Given the description of an element on the screen output the (x, y) to click on. 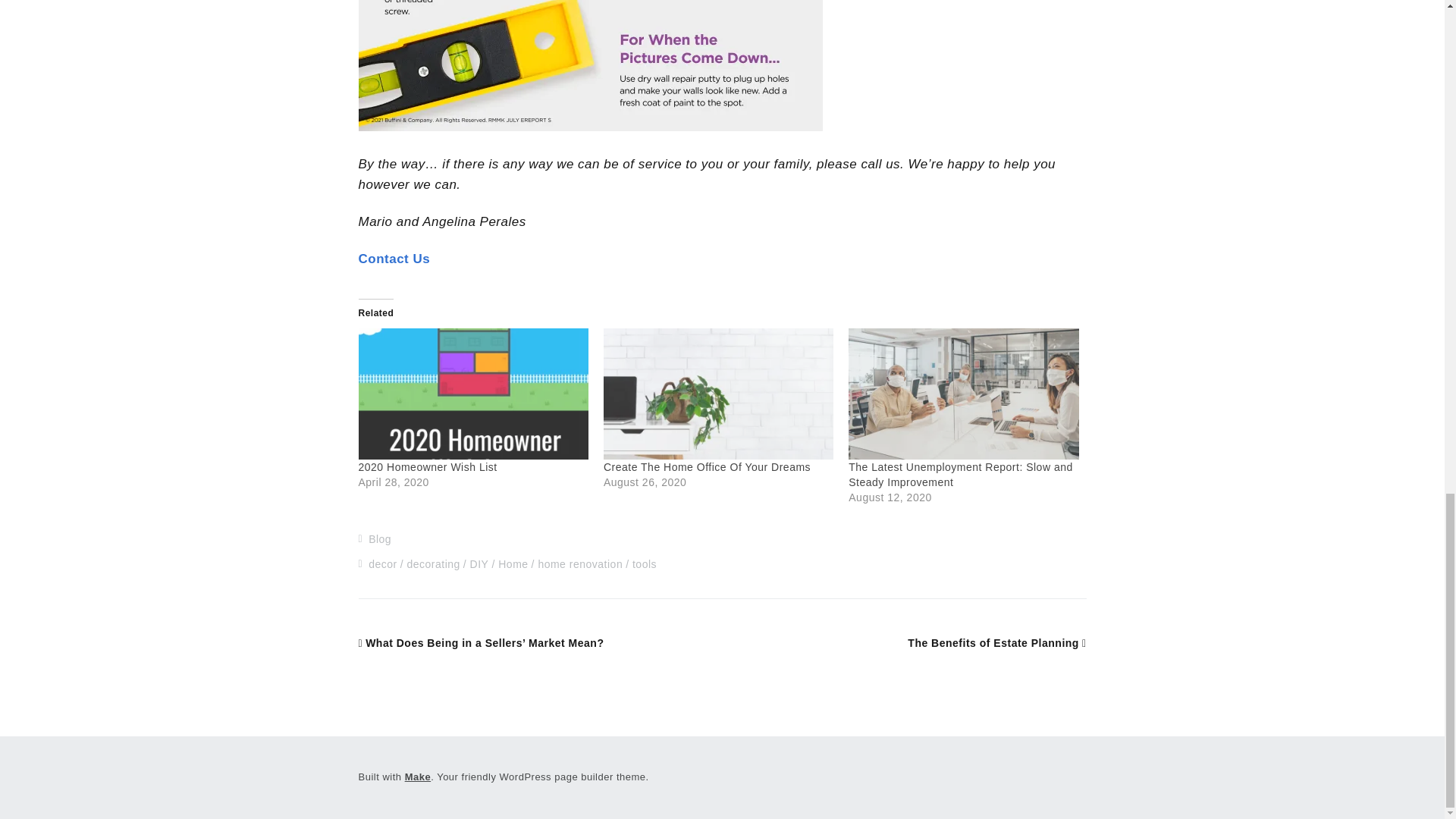
The Benefits of Estate Planning (996, 643)
Contact Us (393, 258)
The Latest Unemployment Report: Slow and Steady Improvement (959, 474)
tools (643, 563)
DIY (479, 563)
The Latest Unemployment Report: Slow and Steady Improvement (959, 474)
Blog (379, 539)
Make (417, 776)
Create The Home Office Of Your Dreams (718, 393)
Create The Home Office Of Your Dreams (707, 467)
